Given the description of an element on the screen output the (x, y) to click on. 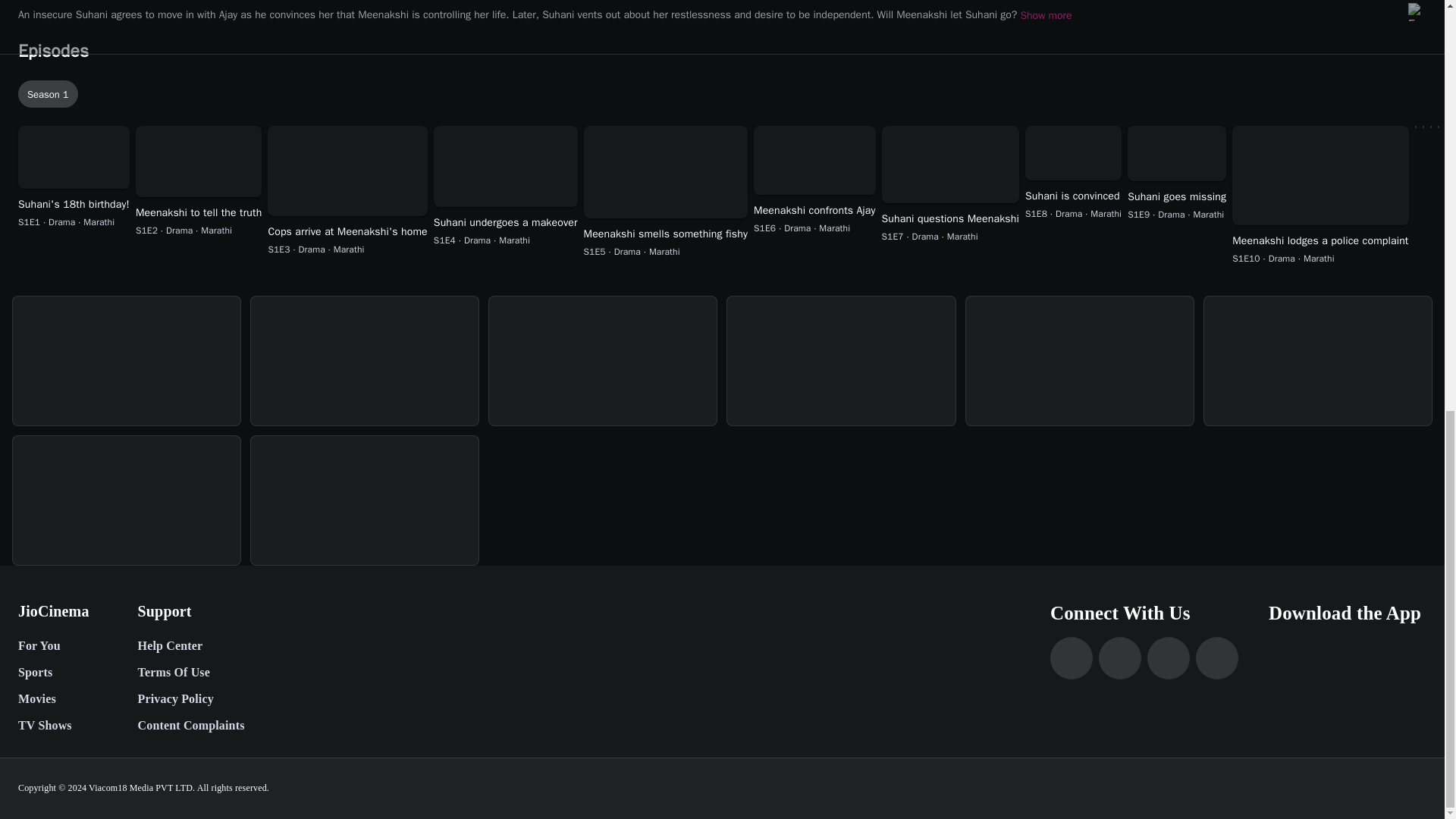
Meenakshi lodges a police complaint (1319, 240)
Cops arrive at Meenakshi's home (346, 231)
Suhani questions Meenakshi (948, 218)
Suhani's 18th birthday! (73, 204)
Meenakshi to tell the truth (198, 212)
Meenakshi smells something fishy (665, 233)
Season 1 (724, 93)
Suhani is convinced (1073, 196)
Suhani undergoes a makeover (505, 222)
